Given the description of an element on the screen output the (x, y) to click on. 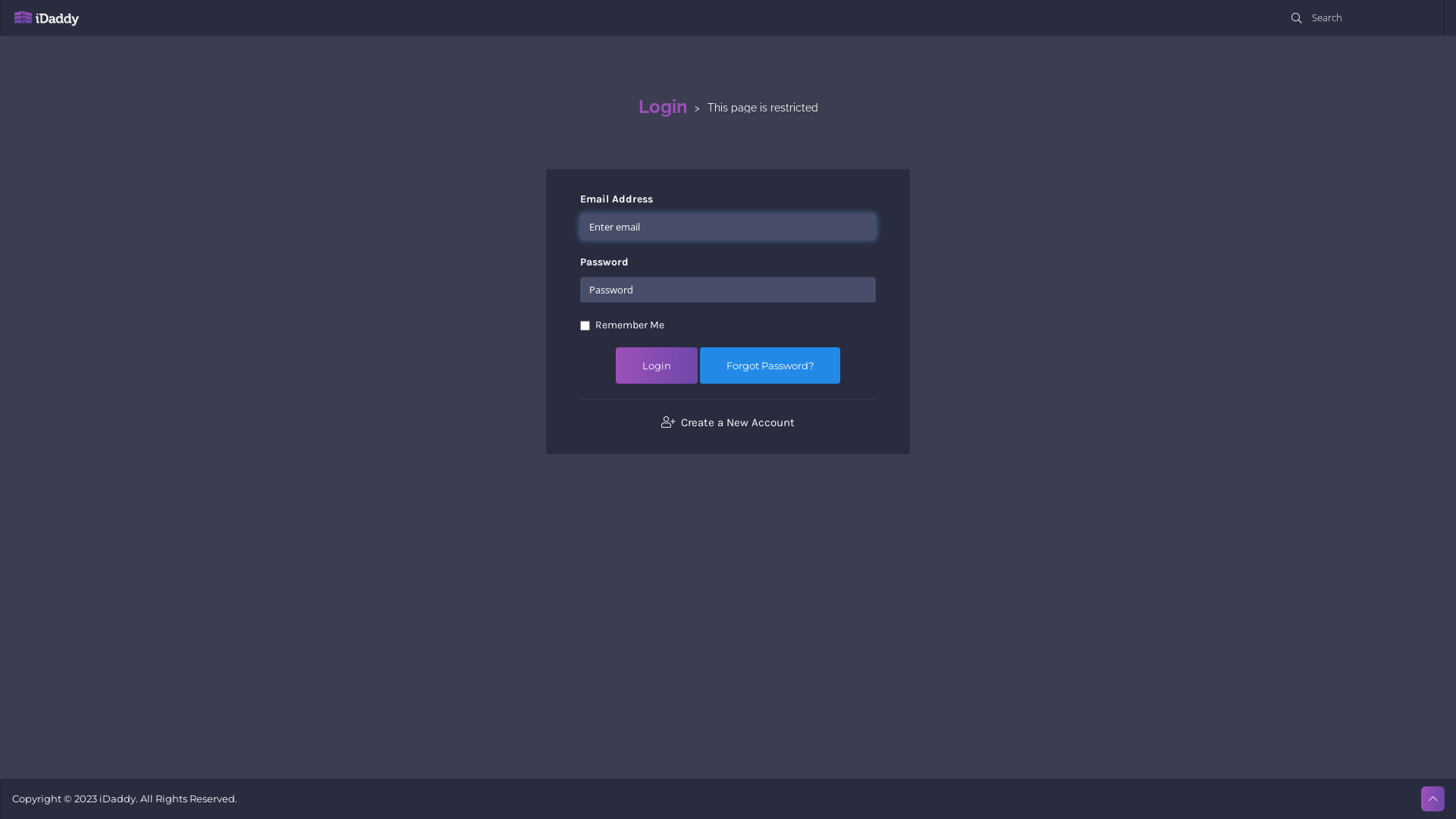
Create a New Account Element type: text (727, 414)
Forgot Password? Element type: text (769, 365)
Login Element type: text (656, 365)
